Given the description of an element on the screen output the (x, y) to click on. 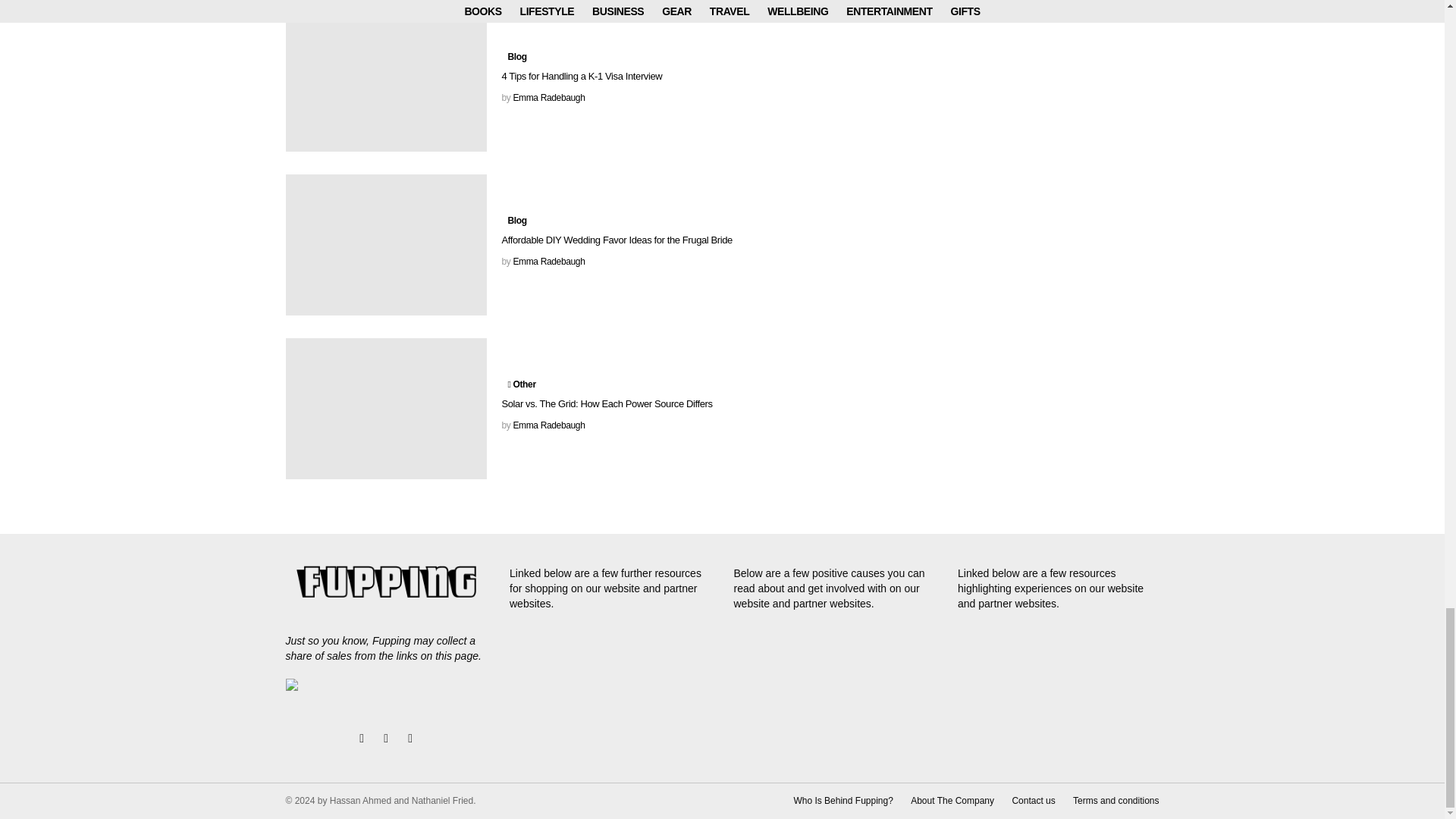
4 Tips for Handling a K-1 Visa Interview (385, 80)
Solar vs. The Grid: How Each Power Source Differs (385, 408)
Affordable DIY Wedding Favor Ideas for the Frugal Bride (385, 244)
Posts by Emma Radebaugh (548, 425)
Posts by Emma Radebaugh (548, 261)
Posts by Emma Radebaugh (548, 97)
